Given the description of an element on the screen output the (x, y) to click on. 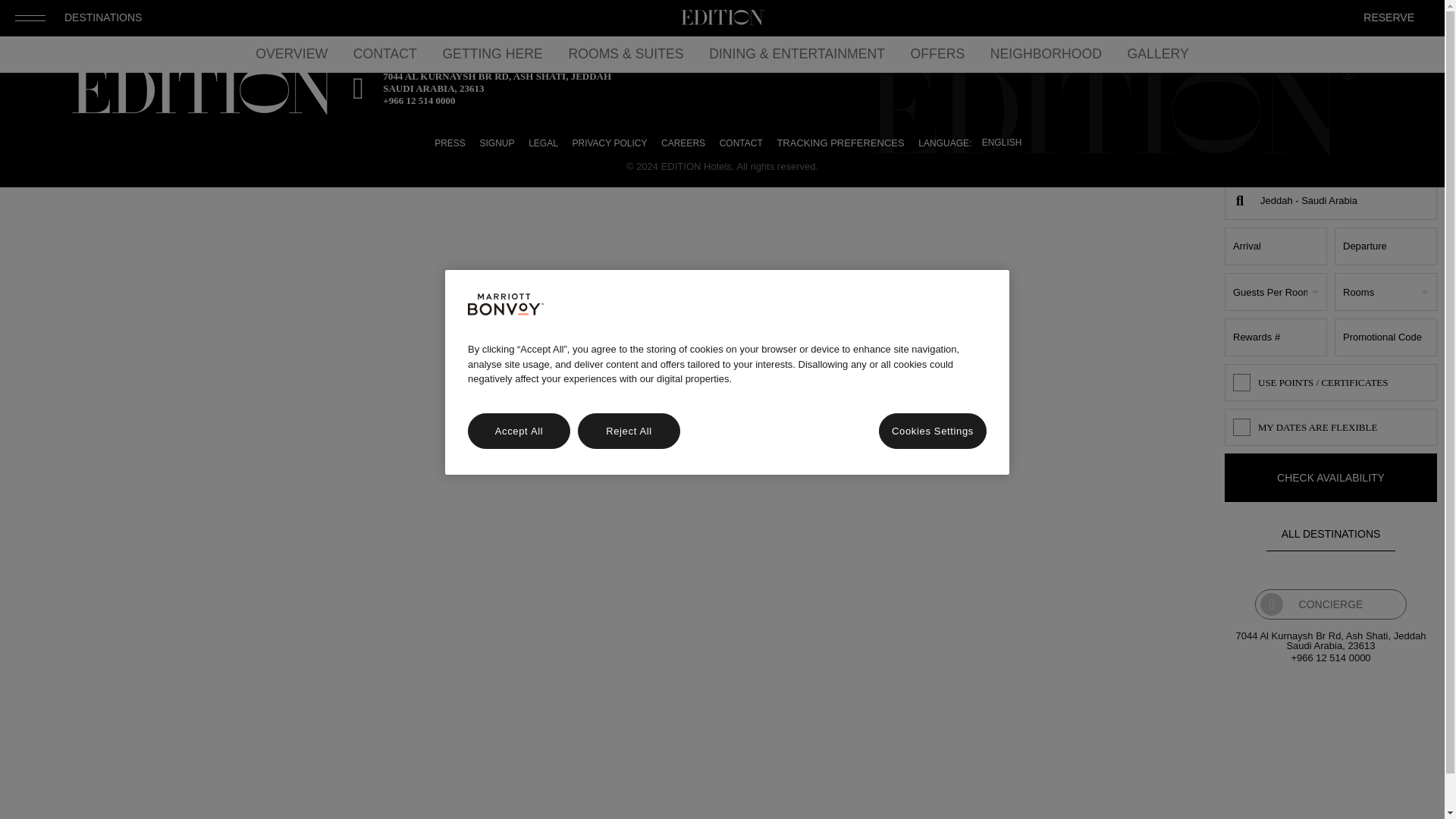
Hamburger Navigation (29, 18)
Arrival (1275, 246)
Click to Open or Close Hamburger Navigation (29, 18)
RESERVE (1387, 17)
OFFERS (937, 54)
CONTACT (385, 54)
Reserve a Room (1387, 17)
NEIGHBORHOOD (1045, 54)
GALLERY (1157, 54)
Find a Location (1330, 200)
Jeddah - Saudi Arabia (1330, 200)
Destinations Navigation (102, 17)
Departure (1386, 246)
Departure (1386, 246)
GETTING HERE (491, 54)
